Given the description of an element on the screen output the (x, y) to click on. 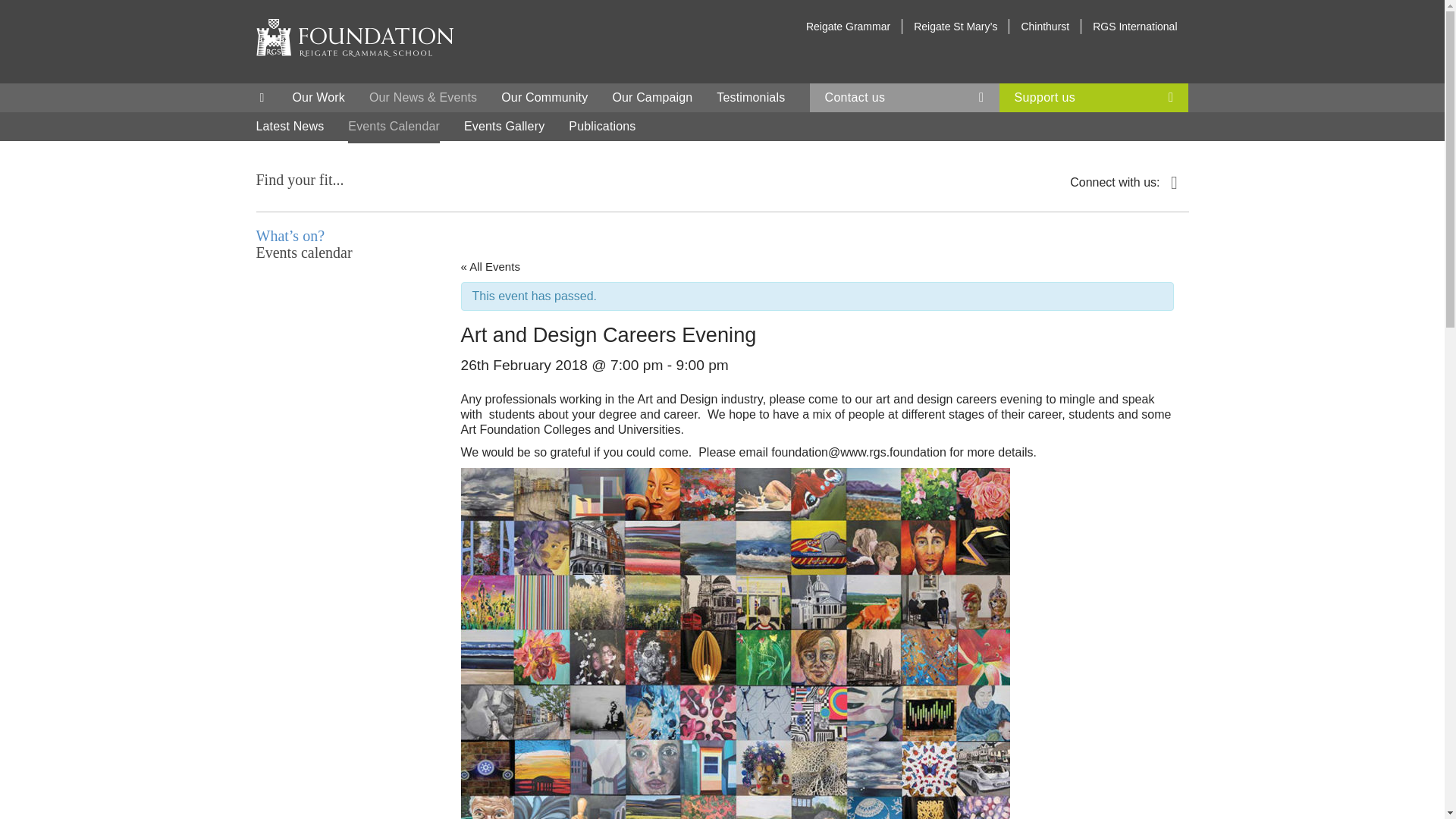
Testimonials (750, 97)
Events Gallery (504, 126)
Reigate Grammar (847, 26)
Support us (1093, 97)
Our Campaign (652, 97)
RGS International (1134, 26)
Our Community (544, 97)
Our Work (318, 97)
Events Calendar (393, 126)
Publications (601, 126)
Chinthurst (1044, 26)
Contact us (903, 97)
Latest News (290, 126)
RGS Foundation (354, 37)
